Given the description of an element on the screen output the (x, y) to click on. 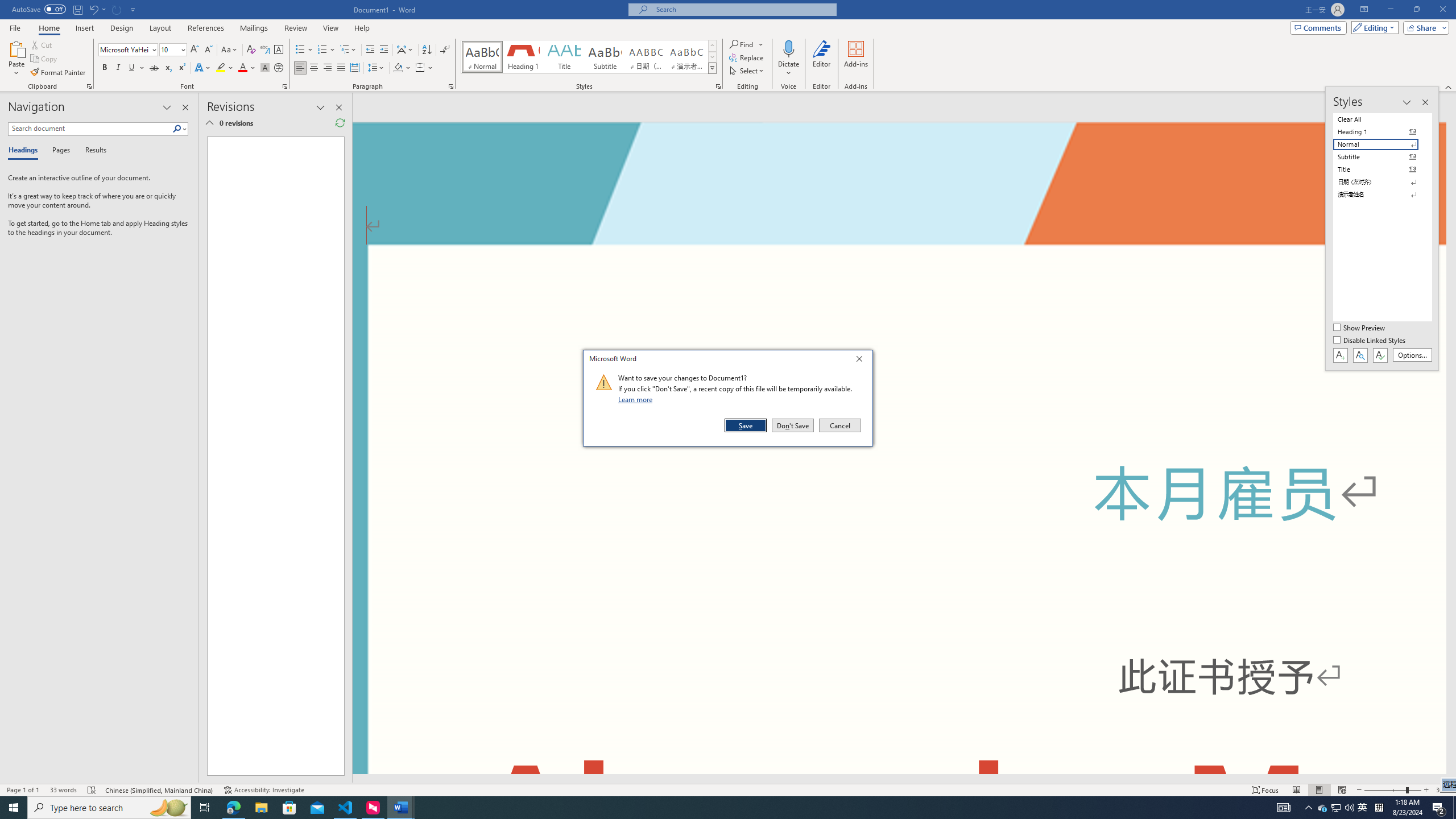
Notification Chevron (1308, 807)
Styles (711, 67)
Class: MsoCommandBar (728, 789)
Center (313, 67)
Clear All (1382, 119)
Font (128, 49)
Pages (59, 150)
Paragraph... (450, 85)
Sort... (1322, 807)
Font Color (1335, 807)
Multilevel List (426, 49)
